Given the description of an element on the screen output the (x, y) to click on. 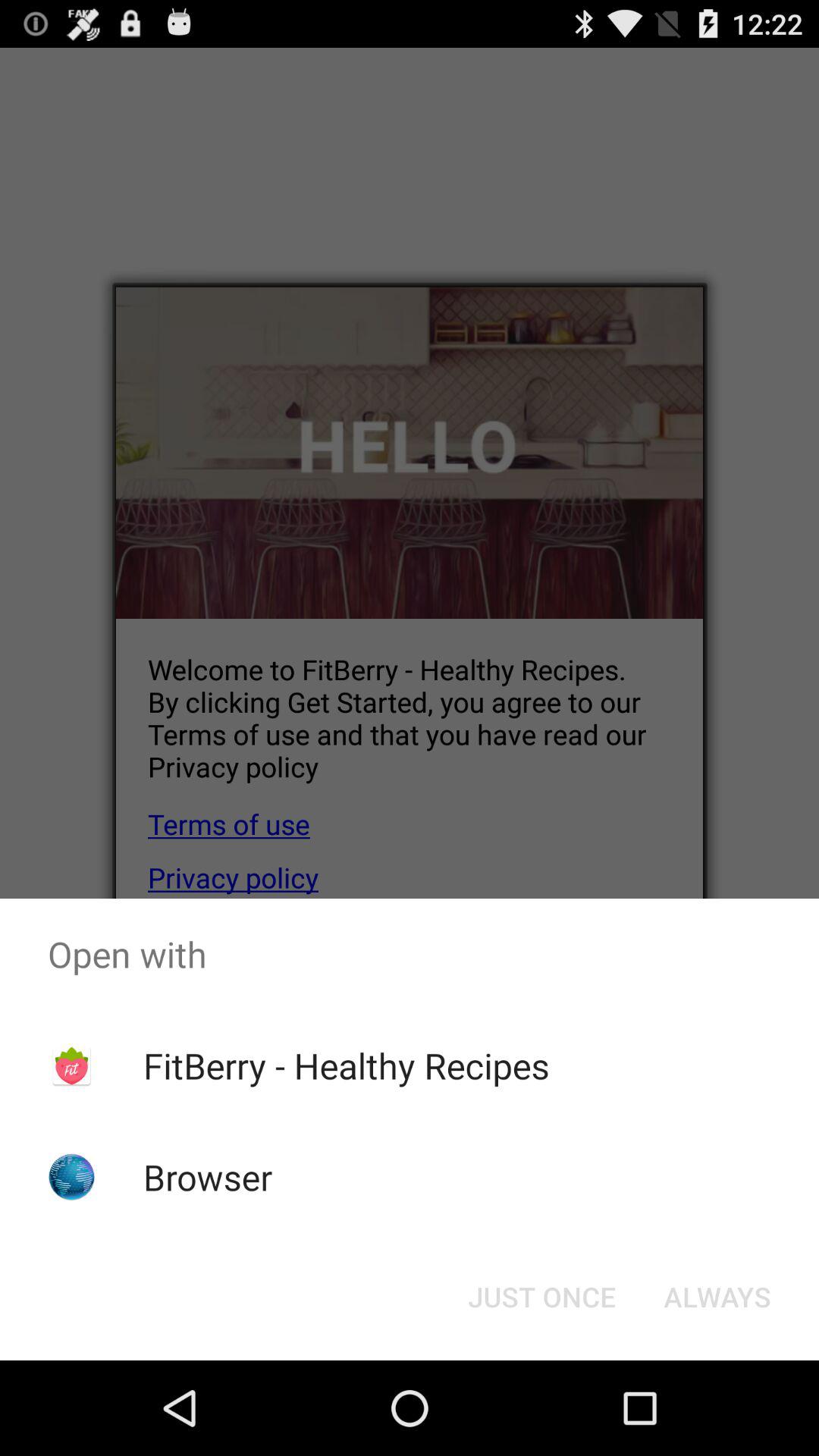
choose the item below open with icon (346, 1065)
